Given the description of an element on the screen output the (x, y) to click on. 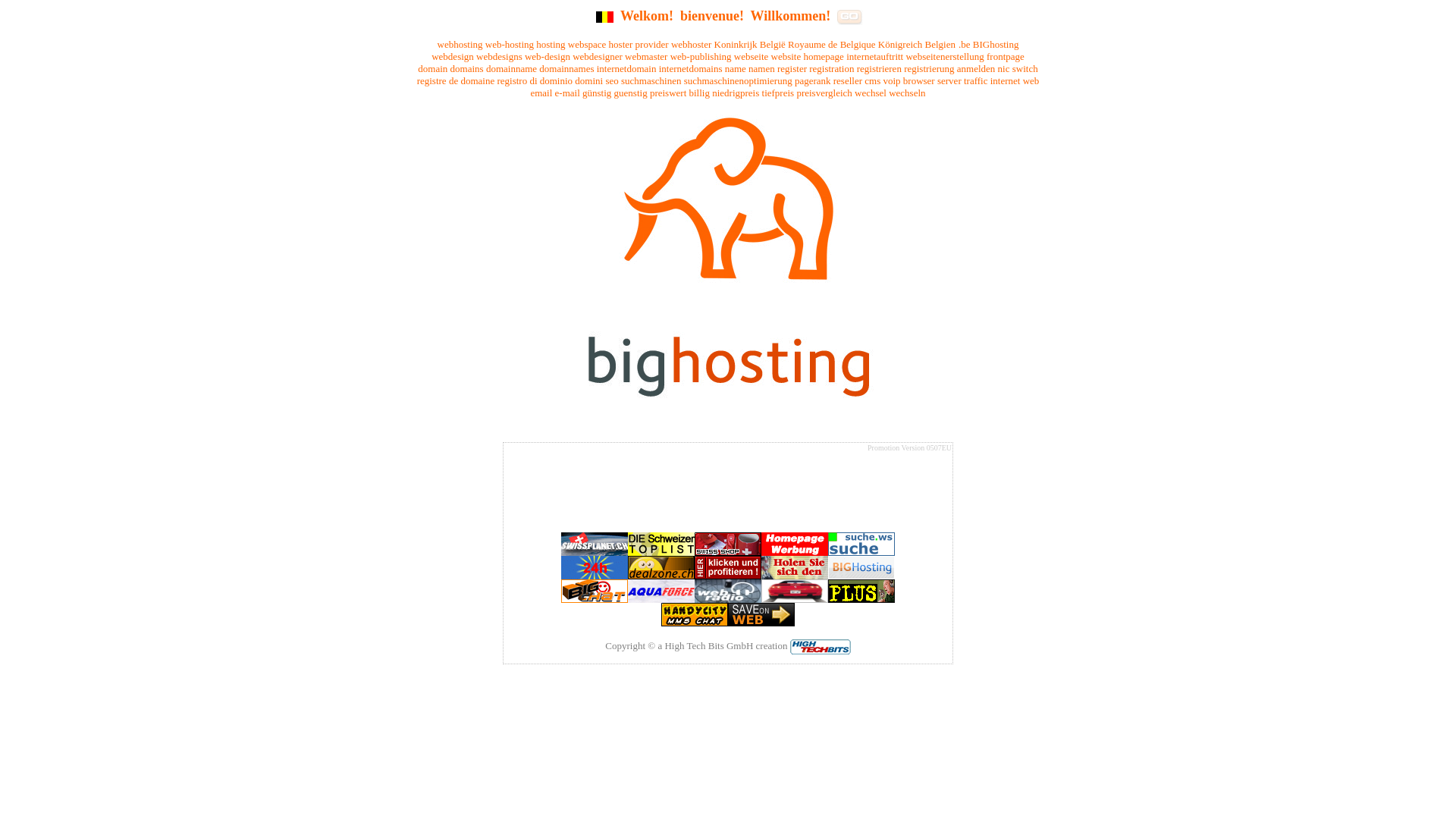
a High Tech Bits GmbH creation Element type: text (722, 645)
